Given the description of an element on the screen output the (x, y) to click on. 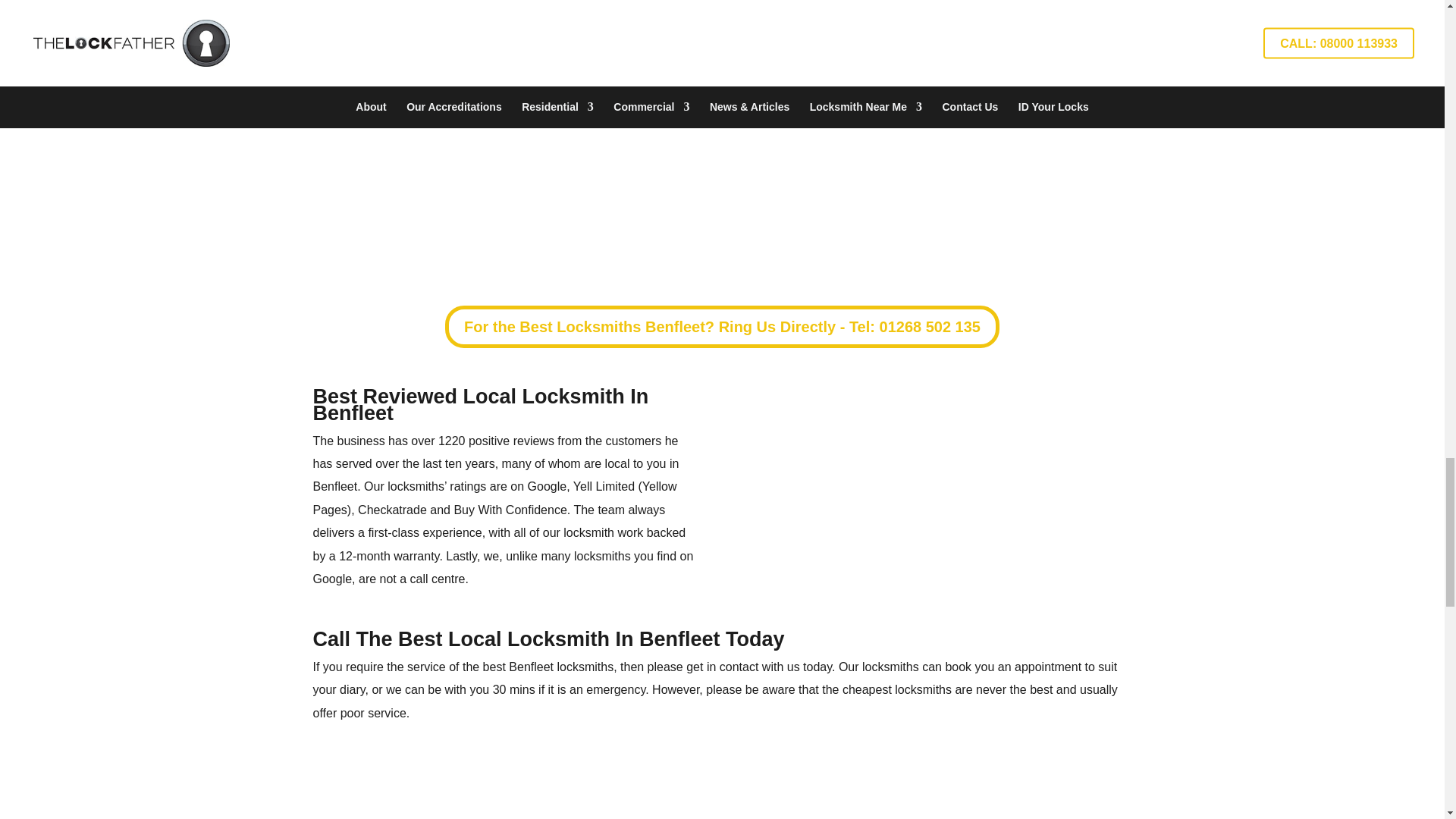
emergency-locksmiths-benfleet (722, 800)
Google (547, 486)
